Given the description of an element on the screen output the (x, y) to click on. 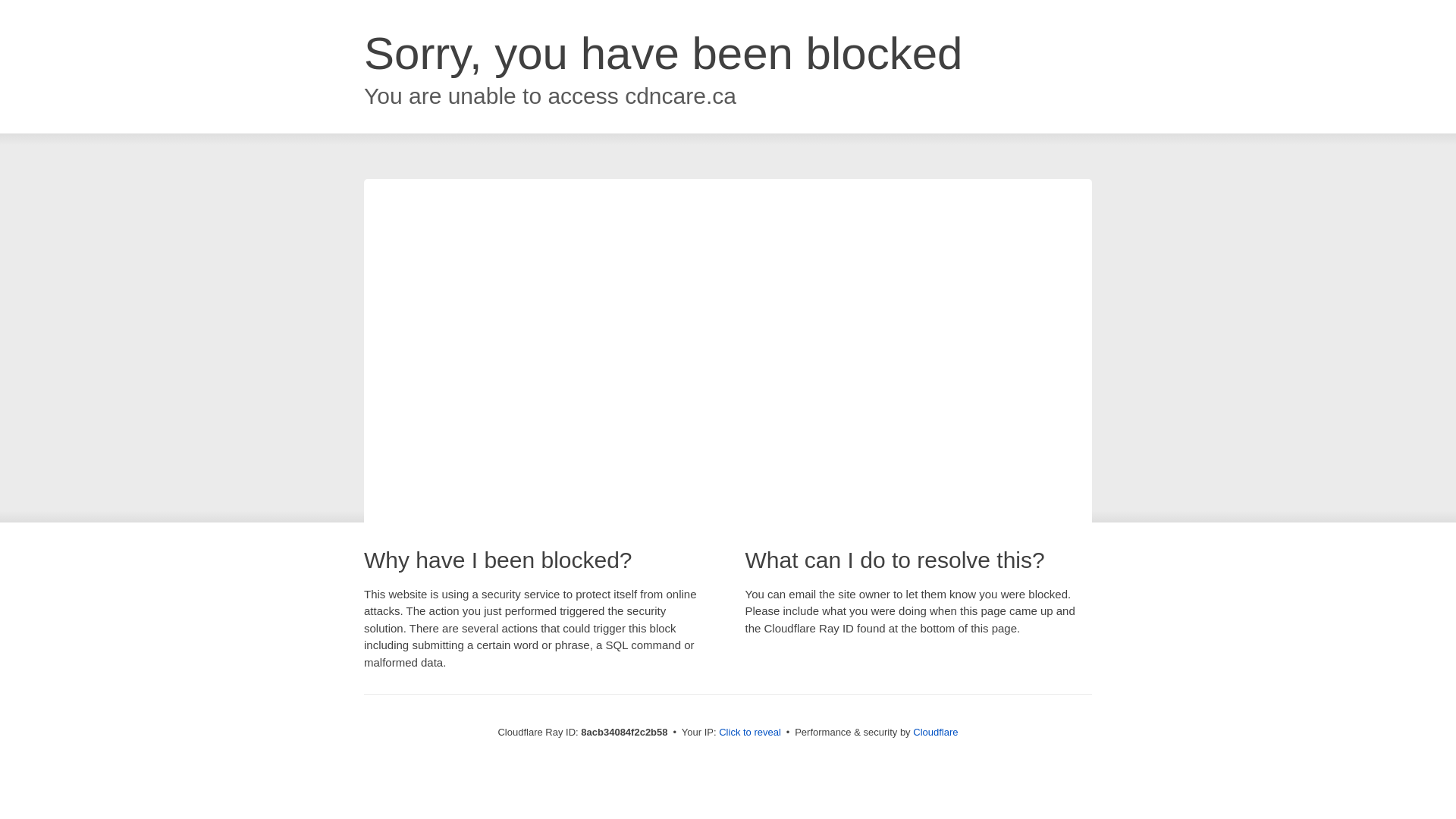
Cloudflare (935, 731)
Click to reveal (749, 732)
